Given the description of an element on the screen output the (x, y) to click on. 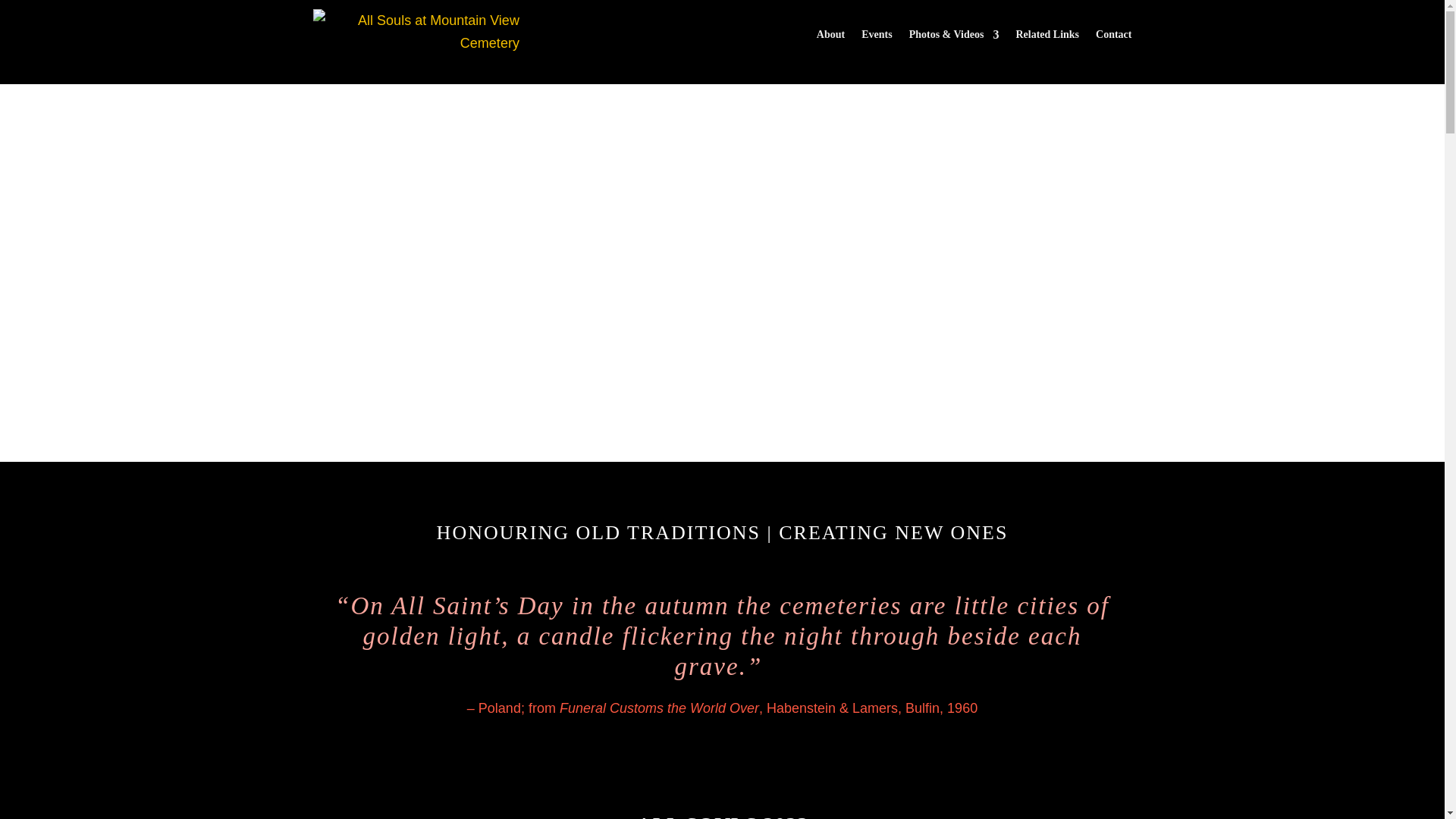
Related Links (1046, 33)
